Given the description of an element on the screen output the (x, y) to click on. 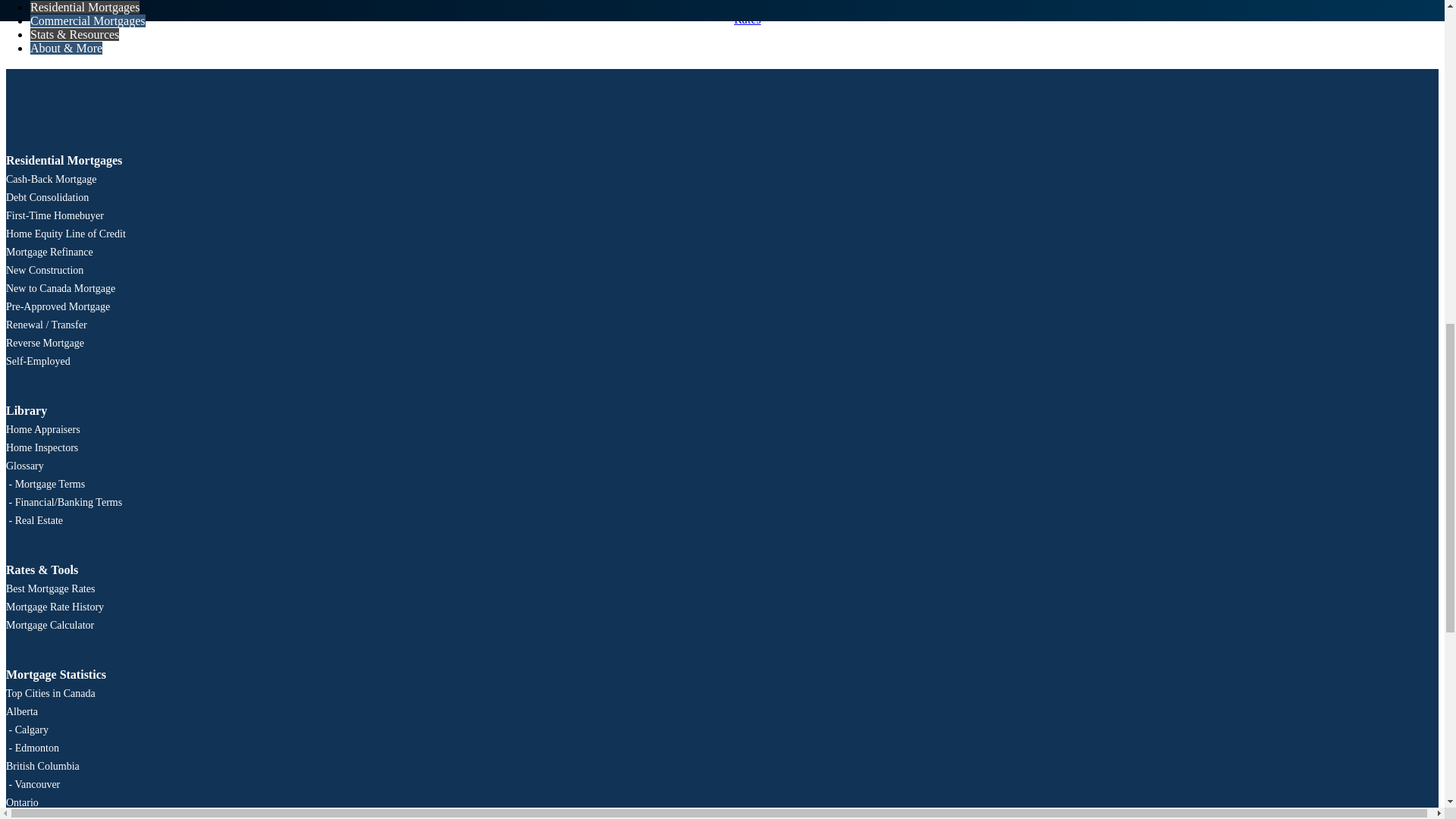
Reverse Mortgage (44, 342)
Home Equity Line of Credit (65, 233)
Residential Mortgages (63, 160)
Debt Consolidation (46, 197)
Pre-Approved Mortgage (57, 306)
First-Time Homebuyer (54, 215)
Home Appraisers (42, 429)
Mortgage Refinance (49, 251)
Library (25, 411)
Self-Employed (37, 360)
